Given the description of an element on the screen output the (x, y) to click on. 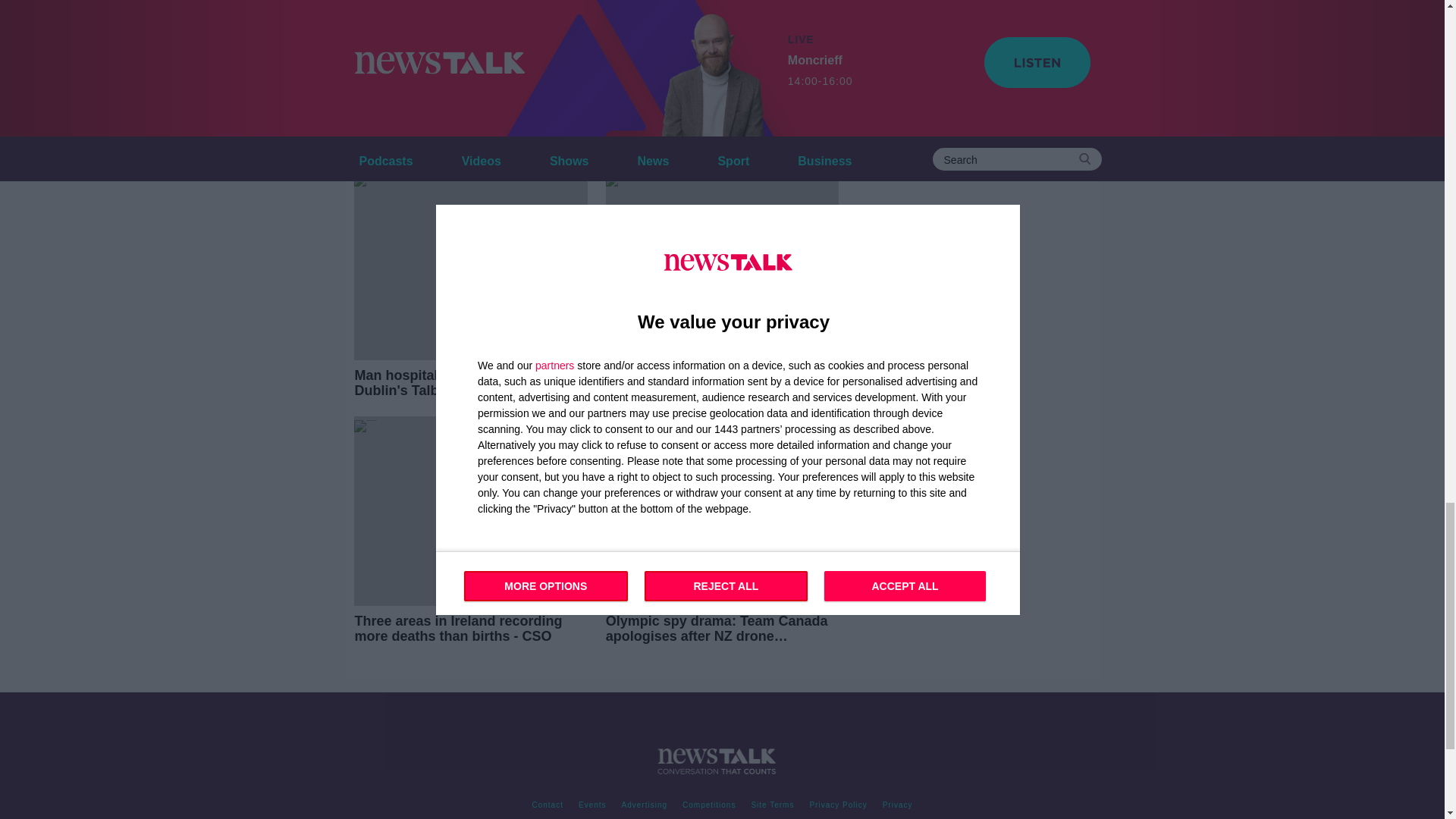
site terms (772, 805)
Privacy Policy (838, 805)
events (592, 805)
contact (547, 805)
MAYO (375, 74)
JOE BIDEN (686, 43)
competitions (708, 805)
Privacy (897, 805)
ANTRIM (460, 43)
advertising (644, 805)
LOUTH (763, 43)
AMERICA (385, 43)
BELFAST (534, 43)
DUBLIN (608, 43)
